Given the description of an element on the screen output the (x, y) to click on. 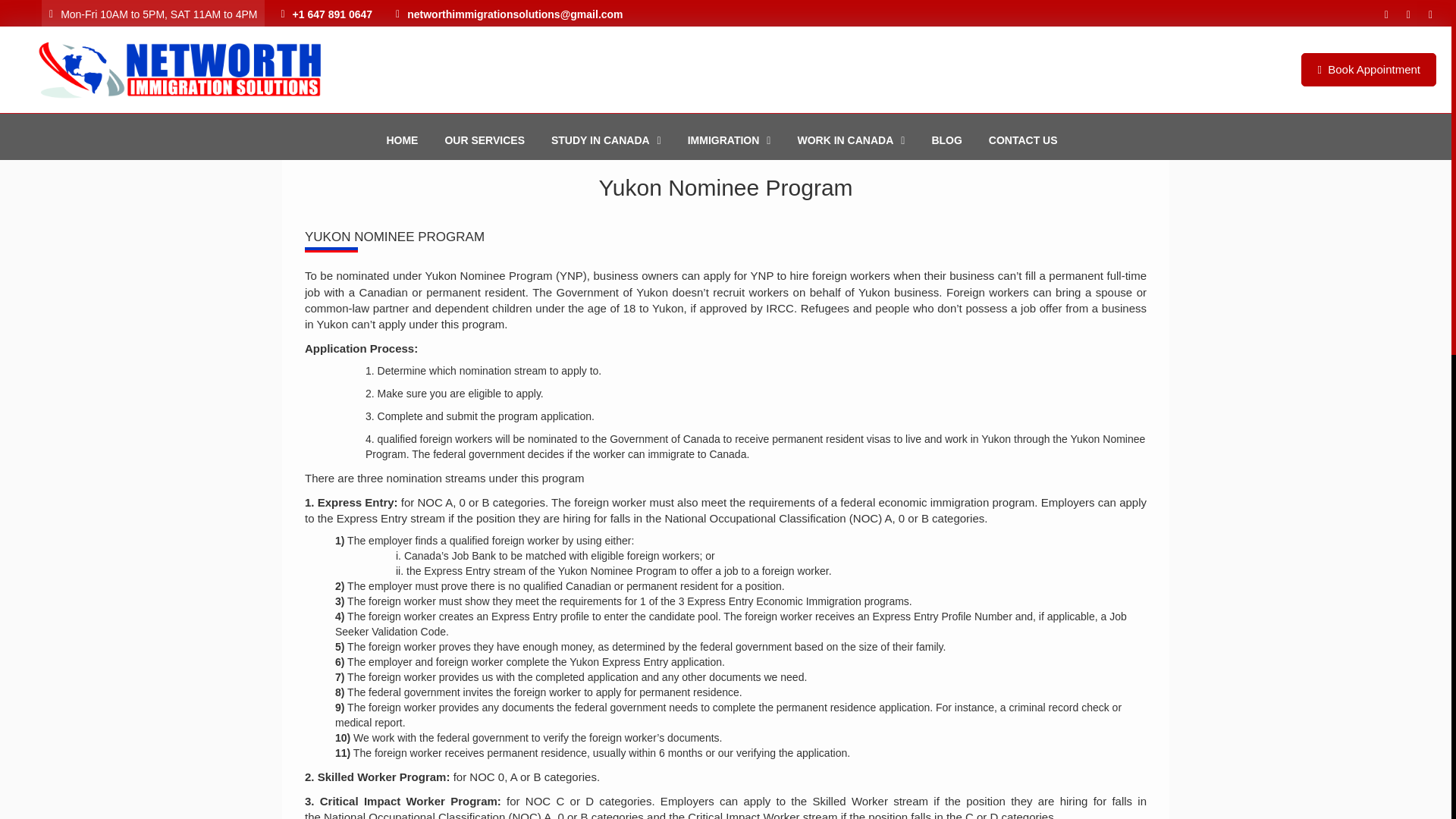
OUR SERVICES (483, 139)
Subscribe to YouTube Channel (1408, 14)
STUDY IN CANADA (606, 140)
Study In Canada (606, 140)
Book Appointment (1368, 69)
WORK IN CANADA (850, 140)
IMMIGRATION (730, 140)
Latest Articles (946, 139)
HOME (401, 139)
Work in Canada (850, 140)
follow us on Instagram (1430, 14)
Follow us On Facebook (1386, 14)
CONTACT US (1022, 139)
Immigration To Canada (730, 140)
BLOG (946, 139)
